Given the description of an element on the screen output the (x, y) to click on. 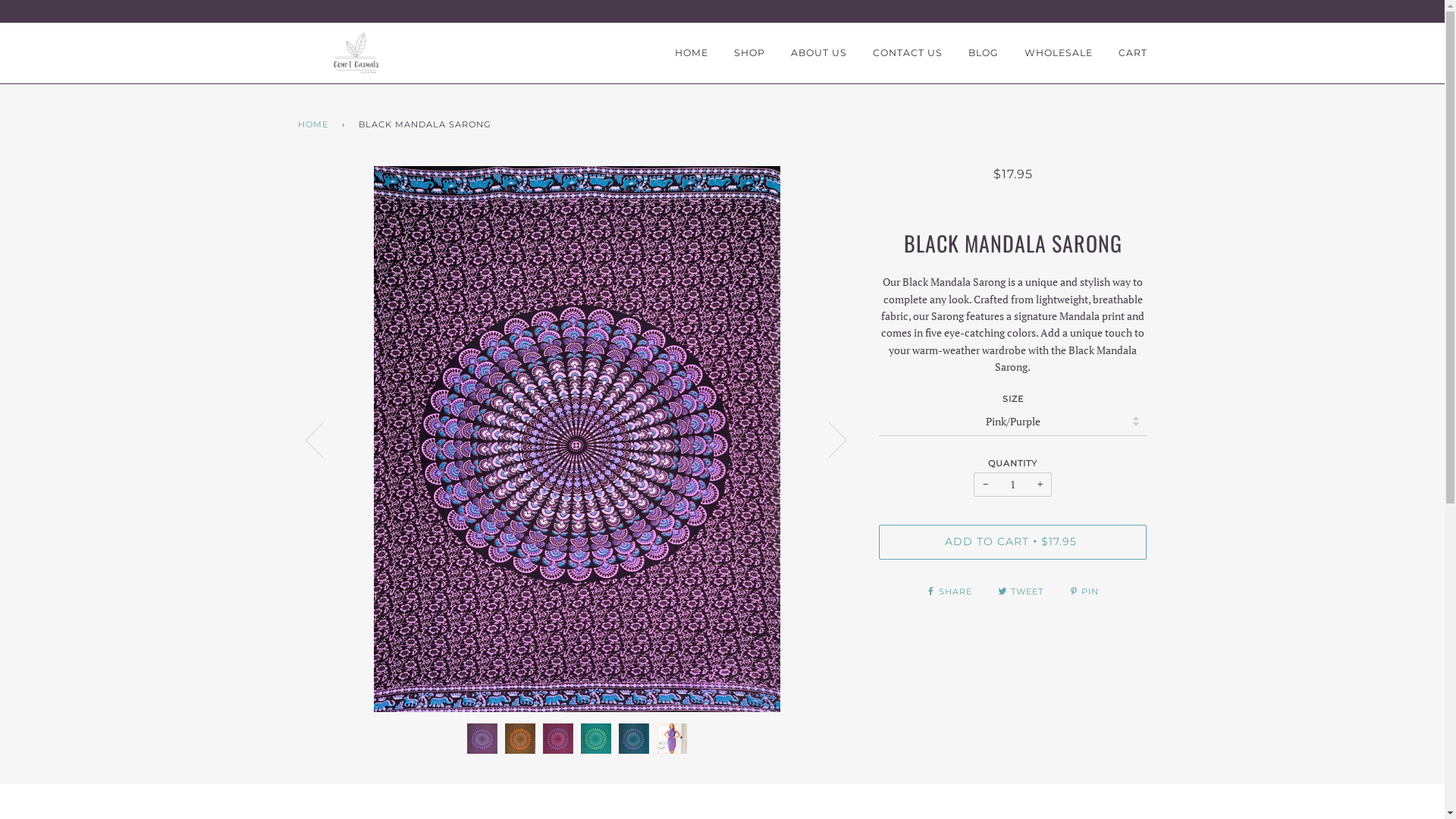
PIN Element type: text (1083, 591)
BLOG Element type: text (982, 52)
Previous Element type: text (322, 439)
CONTACT US Element type: text (906, 52)
TWEET Element type: text (1021, 591)
SHARE Element type: text (950, 591)
ABOUT US Element type: text (818, 52)
WHOLESALE Element type: text (1057, 52)
SHOP Element type: text (749, 52)
+ Element type: text (1039, 484)
Next Element type: text (828, 439)
HOME Element type: text (314, 124)
HOME Element type: text (691, 52)
CART Element type: text (1131, 52)
